Given the description of an element on the screen output the (x, y) to click on. 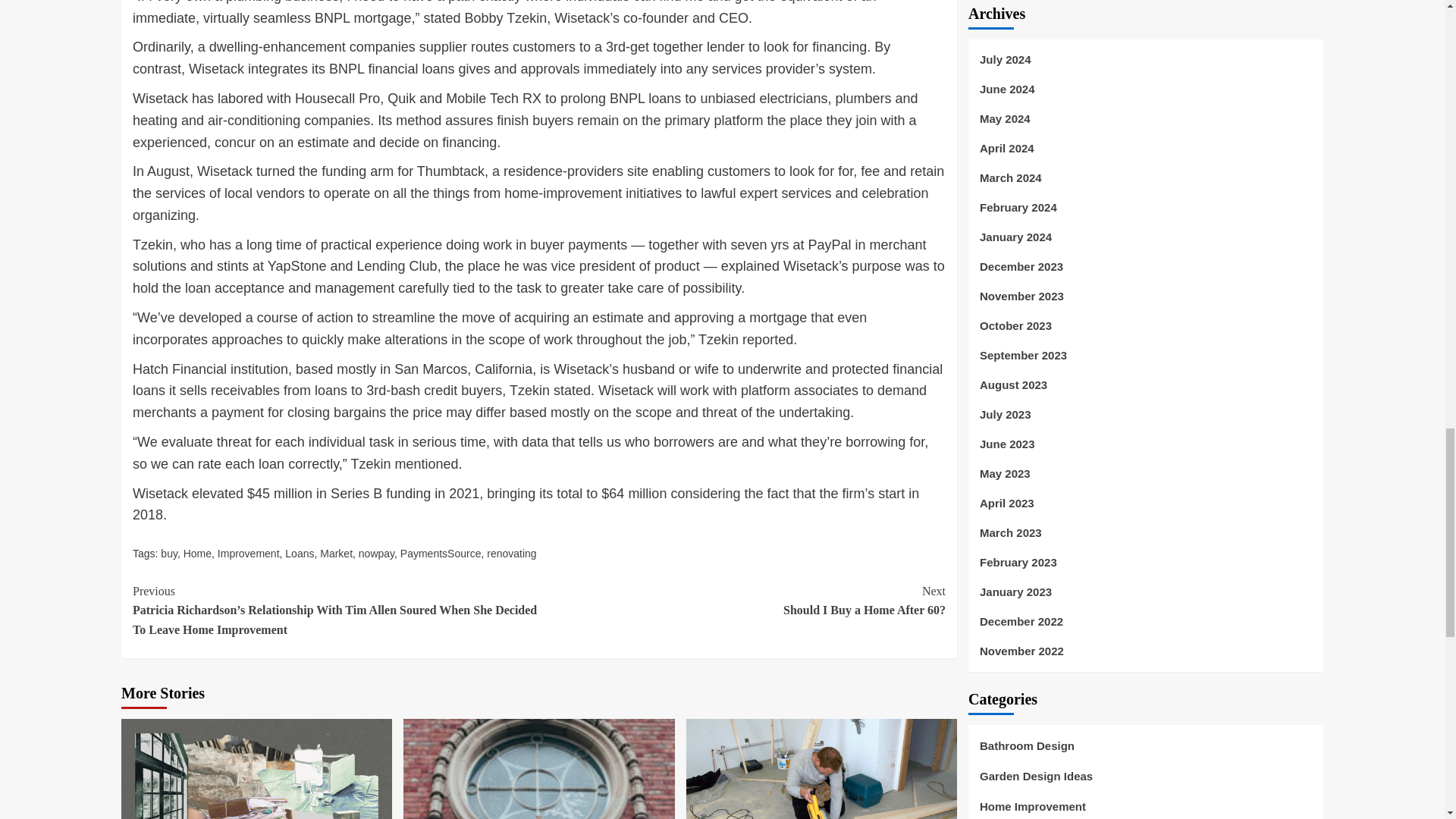
Home (197, 553)
nowpay (376, 553)
Home remodeling booming in Tampa Bay, study says (538, 769)
Is a Zero-Waste Home Renovation Possible? (255, 769)
buy (168, 553)
Market (336, 553)
Loans (299, 553)
PaymentsSource (440, 553)
Improvement (247, 553)
renovating (510, 553)
